Given the description of an element on the screen output the (x, y) to click on. 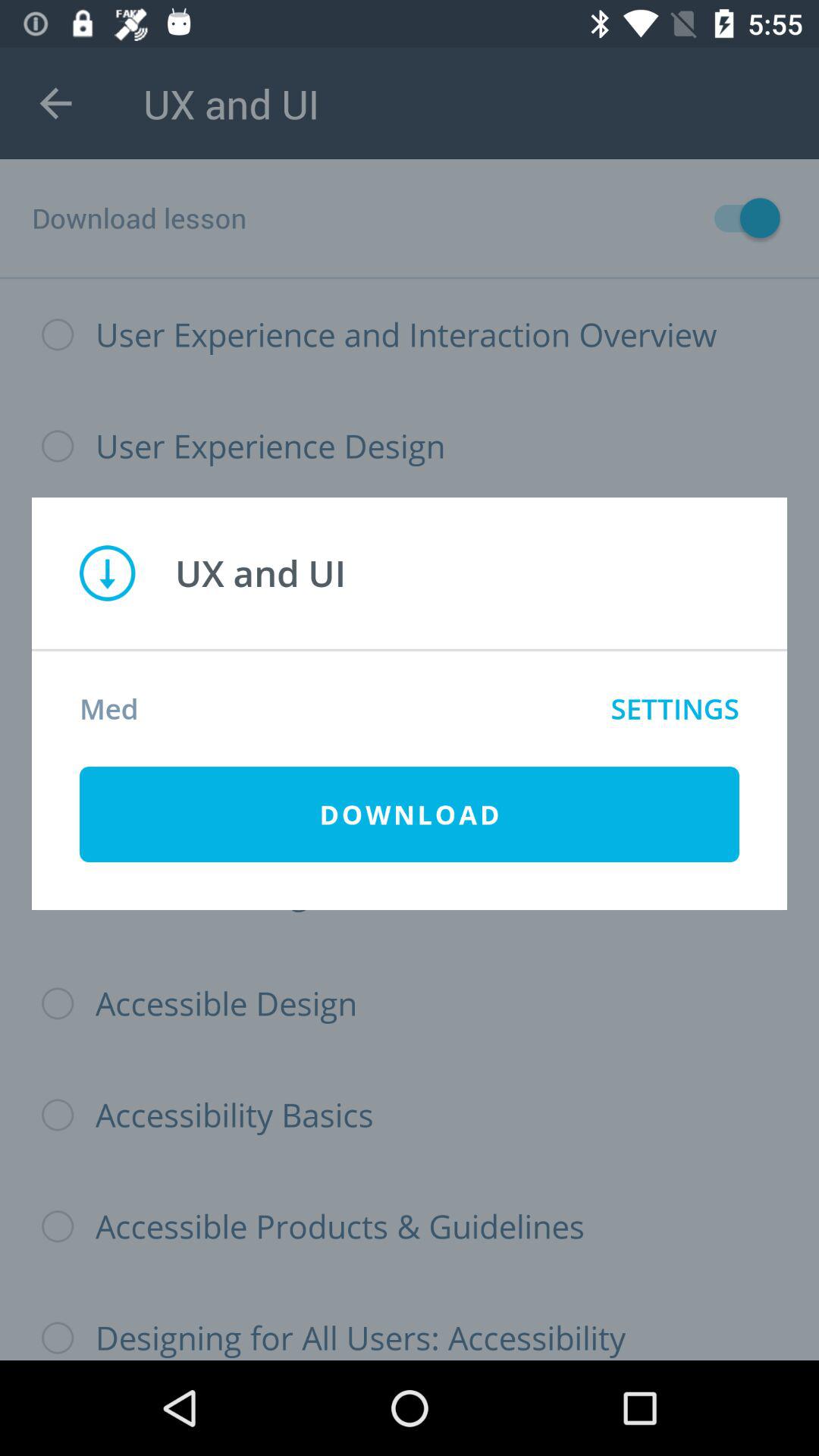
jump until the download icon (409, 814)
